Given the description of an element on the screen output the (x, y) to click on. 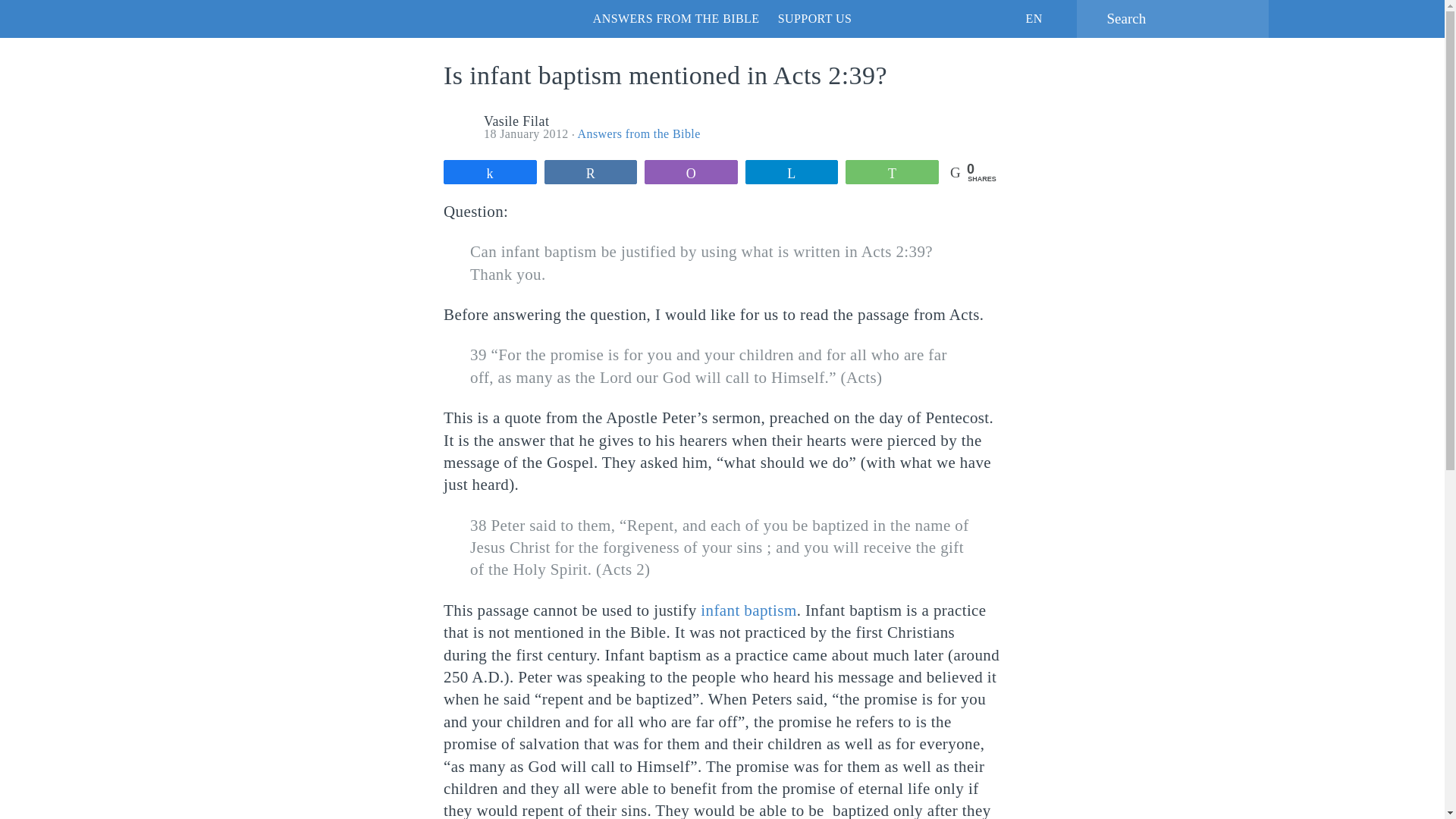
ANSWERS FROM THE BIBLE (676, 18)
SUPPORT US (814, 18)
Vasile Filat (515, 120)
infant baptism (748, 610)
Answers from the Bible (639, 133)
